Given the description of an element on the screen output the (x, y) to click on. 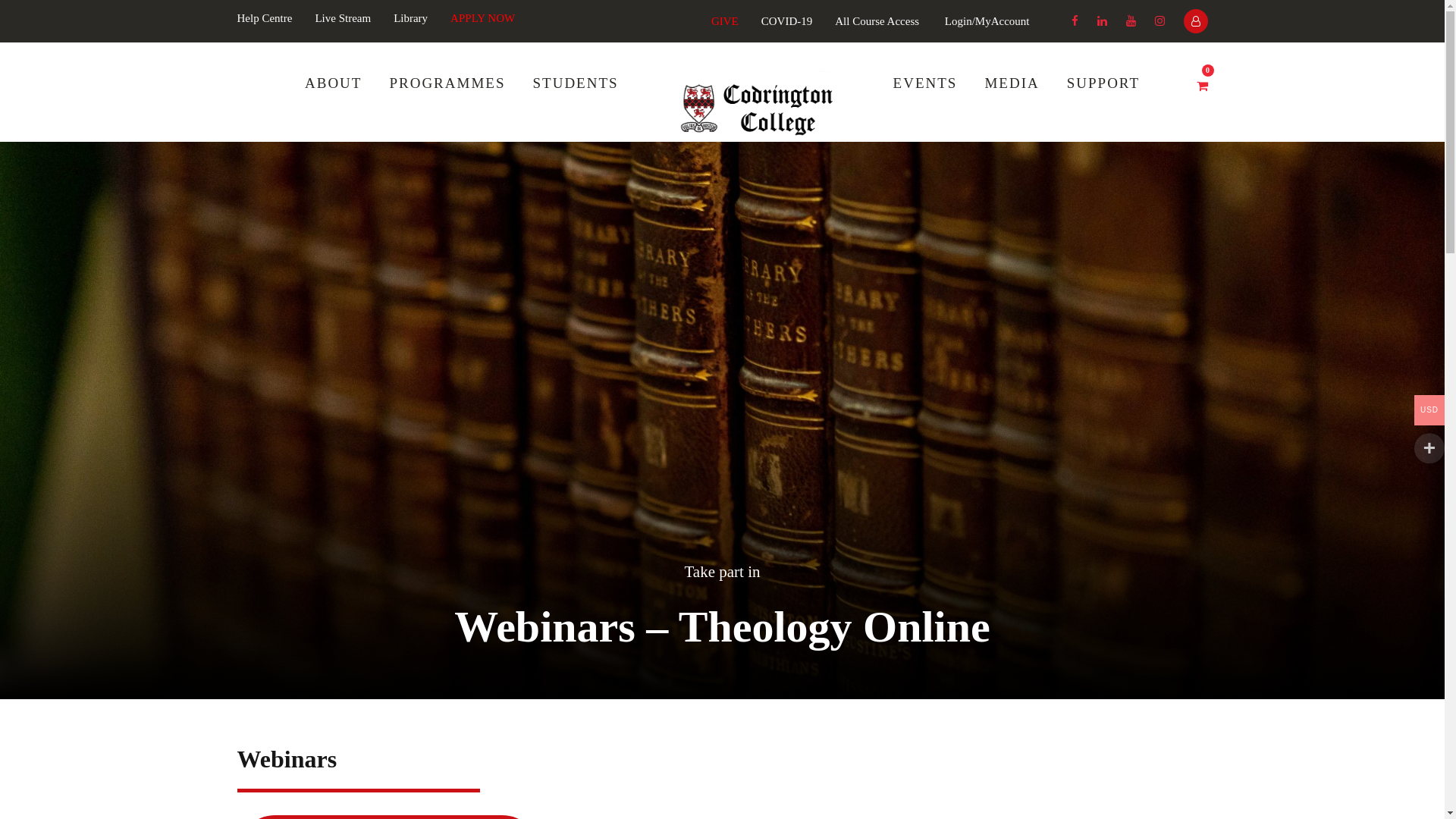
EVENTS Element type: text (925, 97)
facebook Element type: hover (1073, 21)
Library Element type: text (410, 18)
ABOUT Element type: text (332, 97)
STUDENTS Element type: text (575, 97)
All Course Access Element type: text (876, 21)
linkedin Element type: hover (1101, 21)
COVID-19 Element type: text (786, 21)
Live Stream Element type: text (342, 18)
instagram Element type: hover (1159, 21)
Login/MyAccount Element type: text (986, 21)
APPLY NOW Element type: text (482, 18)
SUPPORT Element type: text (1102, 97)
GIVE Element type: text (724, 21)
MEDIA Element type: text (1011, 97)
youtube Element type: hover (1130, 21)
PROGRAMMES Element type: text (447, 97)
Help Centre Element type: text (263, 18)
